Given the description of an element on the screen output the (x, y) to click on. 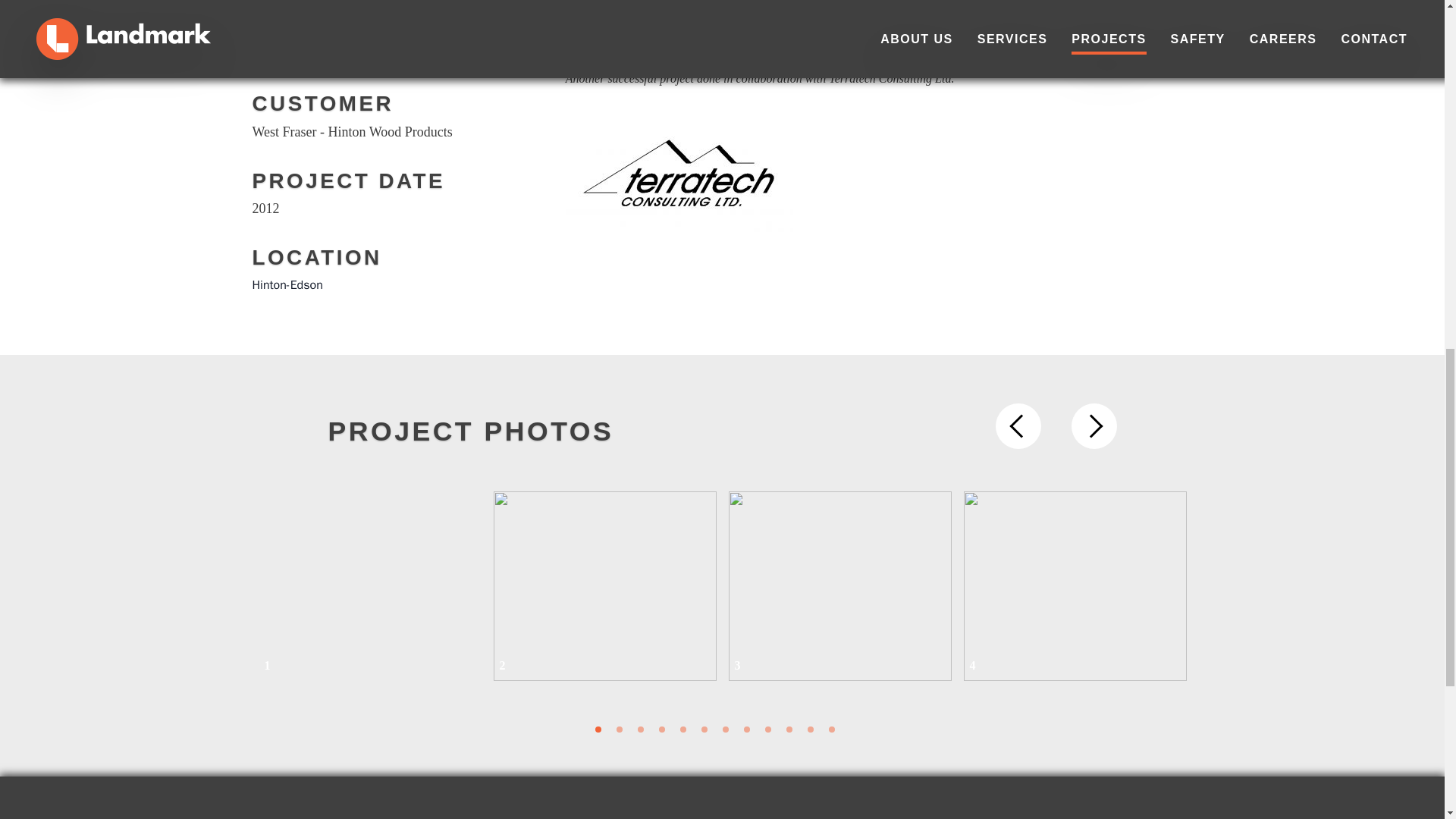
1 (596, 729)
2 (618, 729)
8 (745, 729)
4 (1074, 585)
3 (839, 585)
6 (703, 729)
11 (809, 729)
4 (660, 729)
9 (767, 729)
7 (725, 729)
